Given the description of an element on the screen output the (x, y) to click on. 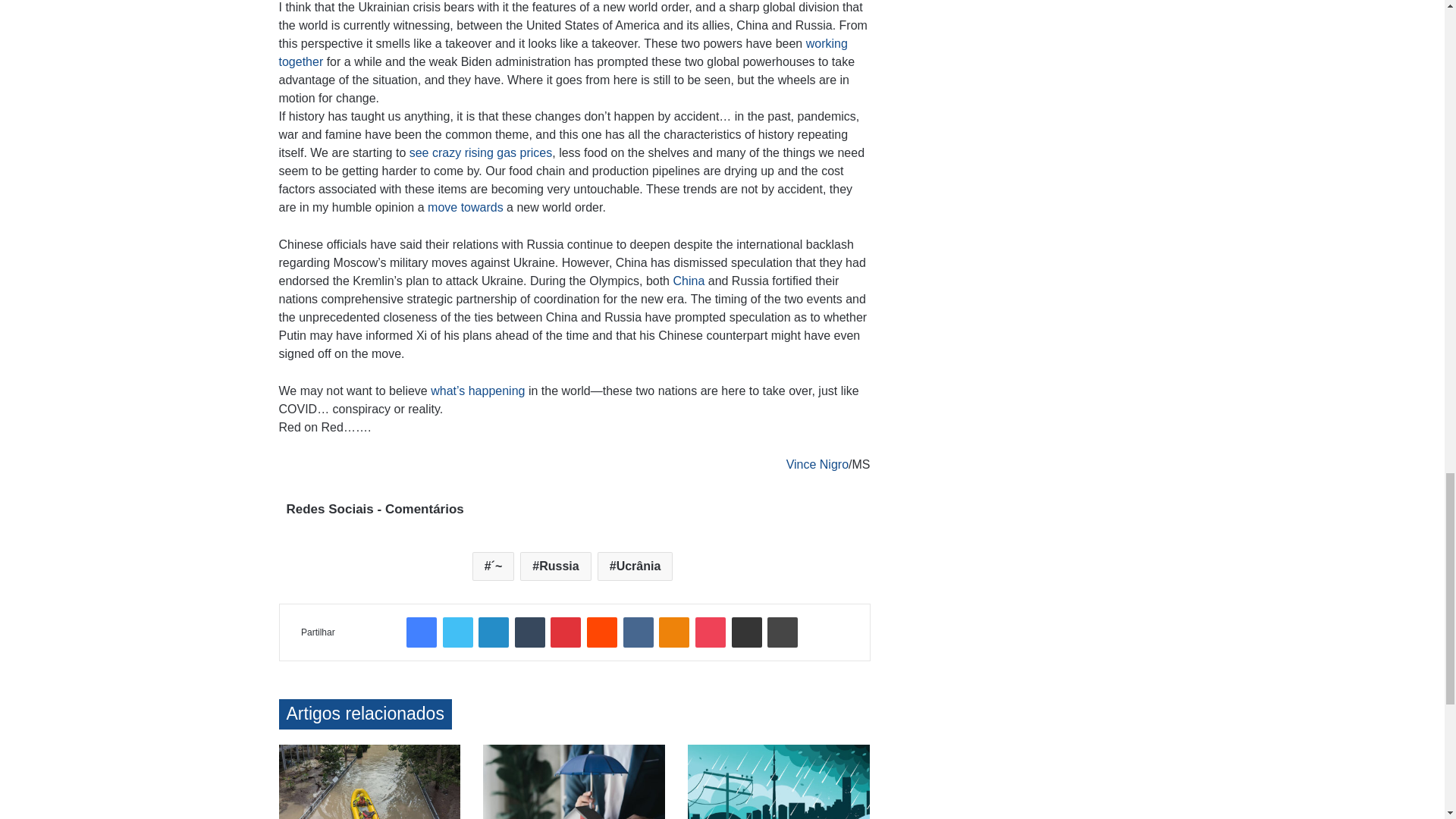
LinkedIn (493, 632)
Canadian Coast Guard moving toward gender-neutral uniforms (465, 206)
Facebook (421, 632)
Twitter (457, 632)
